Given the description of an element on the screen output the (x, y) to click on. 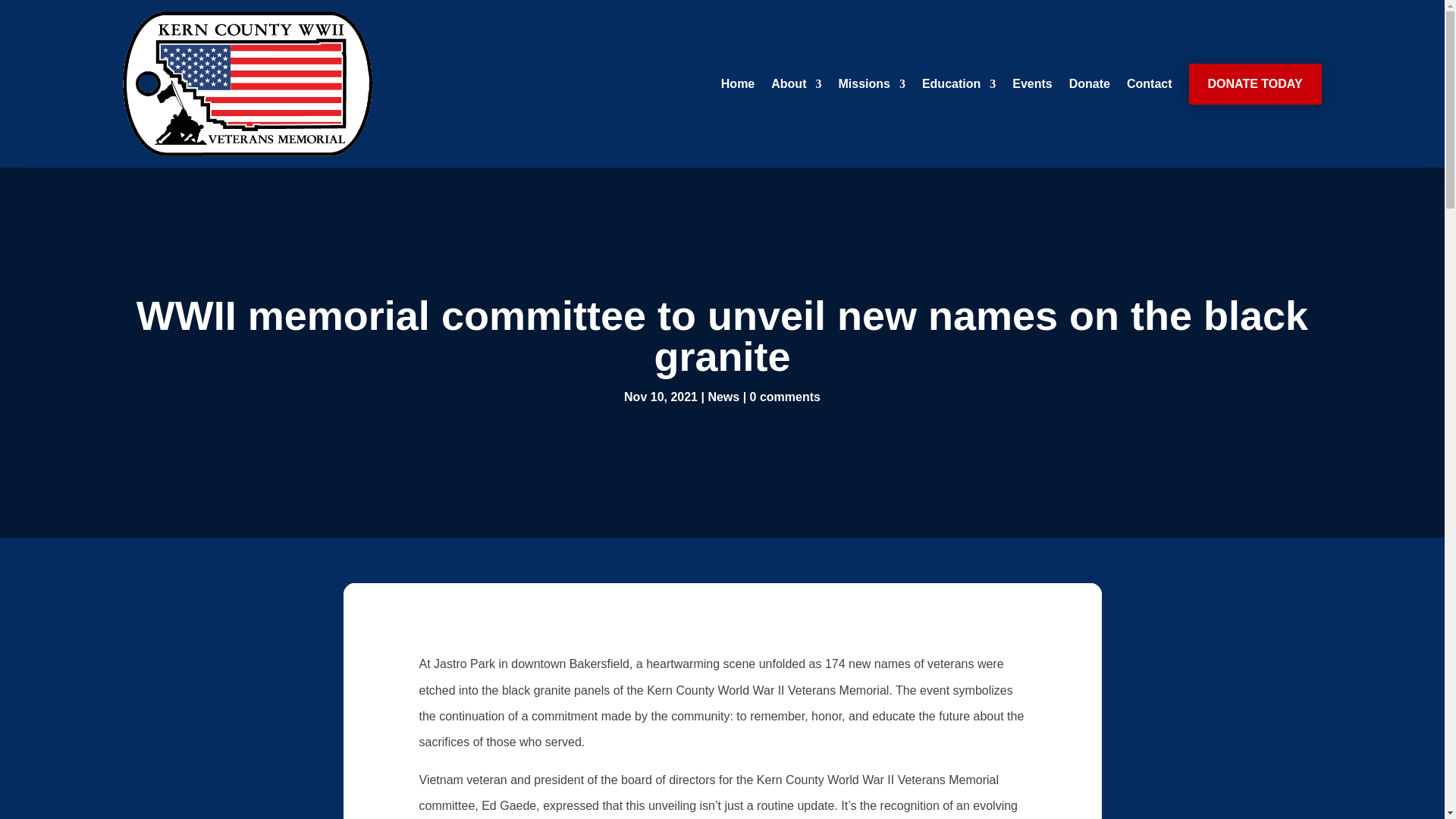
Events (1031, 83)
Donate (1088, 83)
DONATE TODAY (1255, 83)
Contact (1149, 83)
About (796, 83)
Missions (871, 83)
News (723, 396)
Education (958, 83)
0 comments (785, 396)
